Given the description of an element on the screen output the (x, y) to click on. 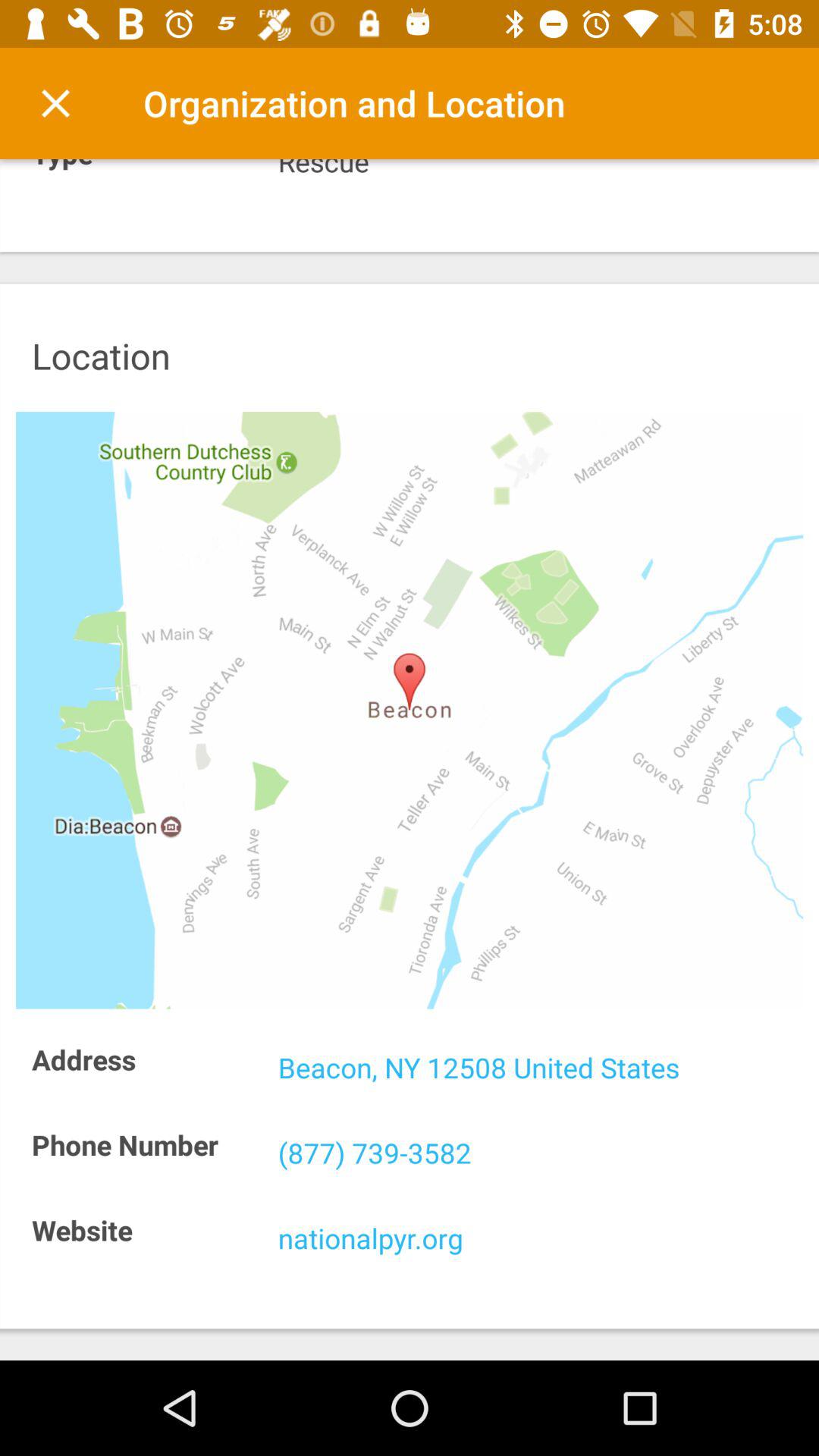
choose icon below location item (409, 709)
